Given the description of an element on the screen output the (x, y) to click on. 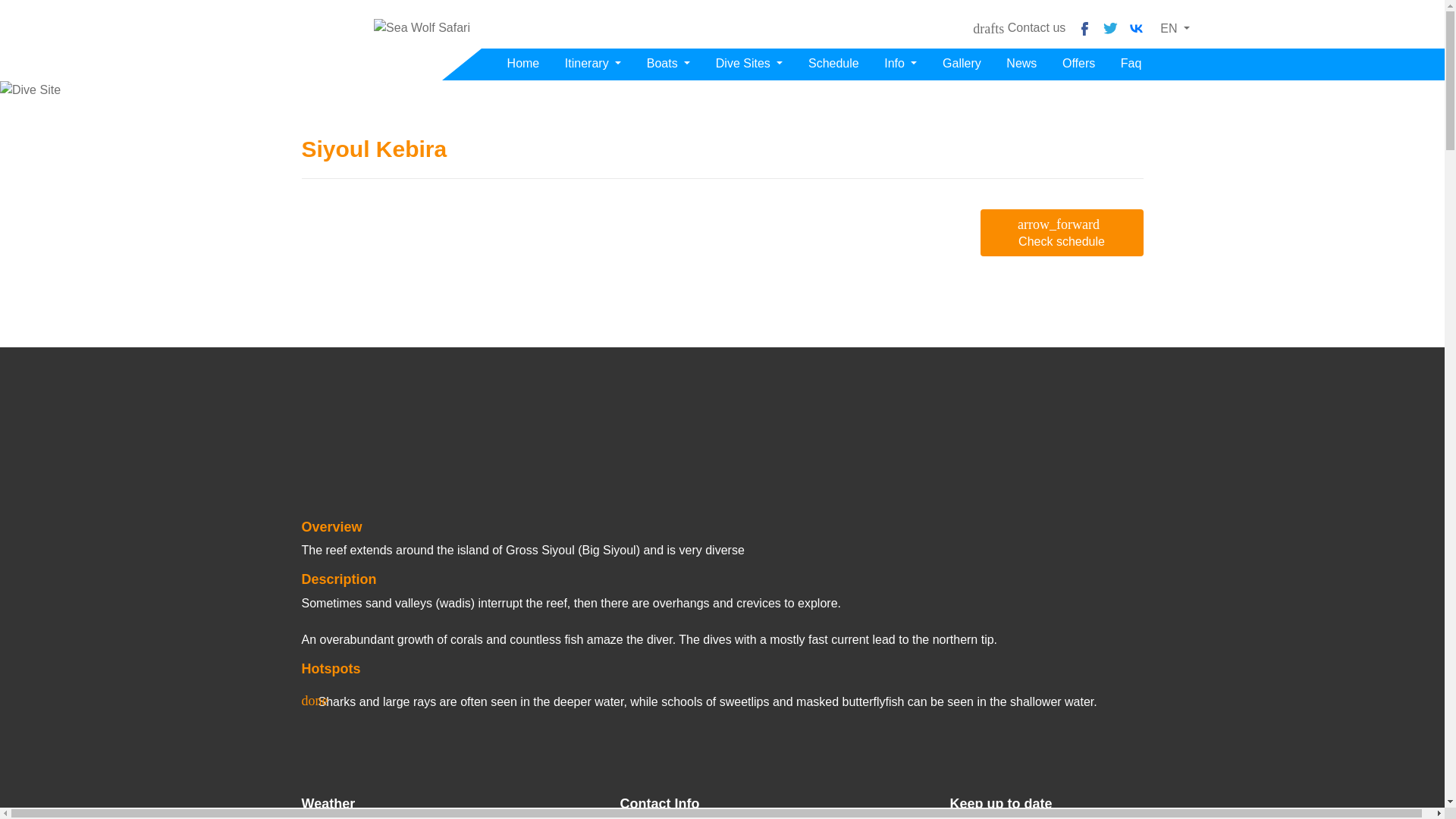
Home (523, 64)
drafts Contact us (1020, 27)
EN (1174, 28)
Itinerary (592, 64)
